Given the description of an element on the screen output the (x, y) to click on. 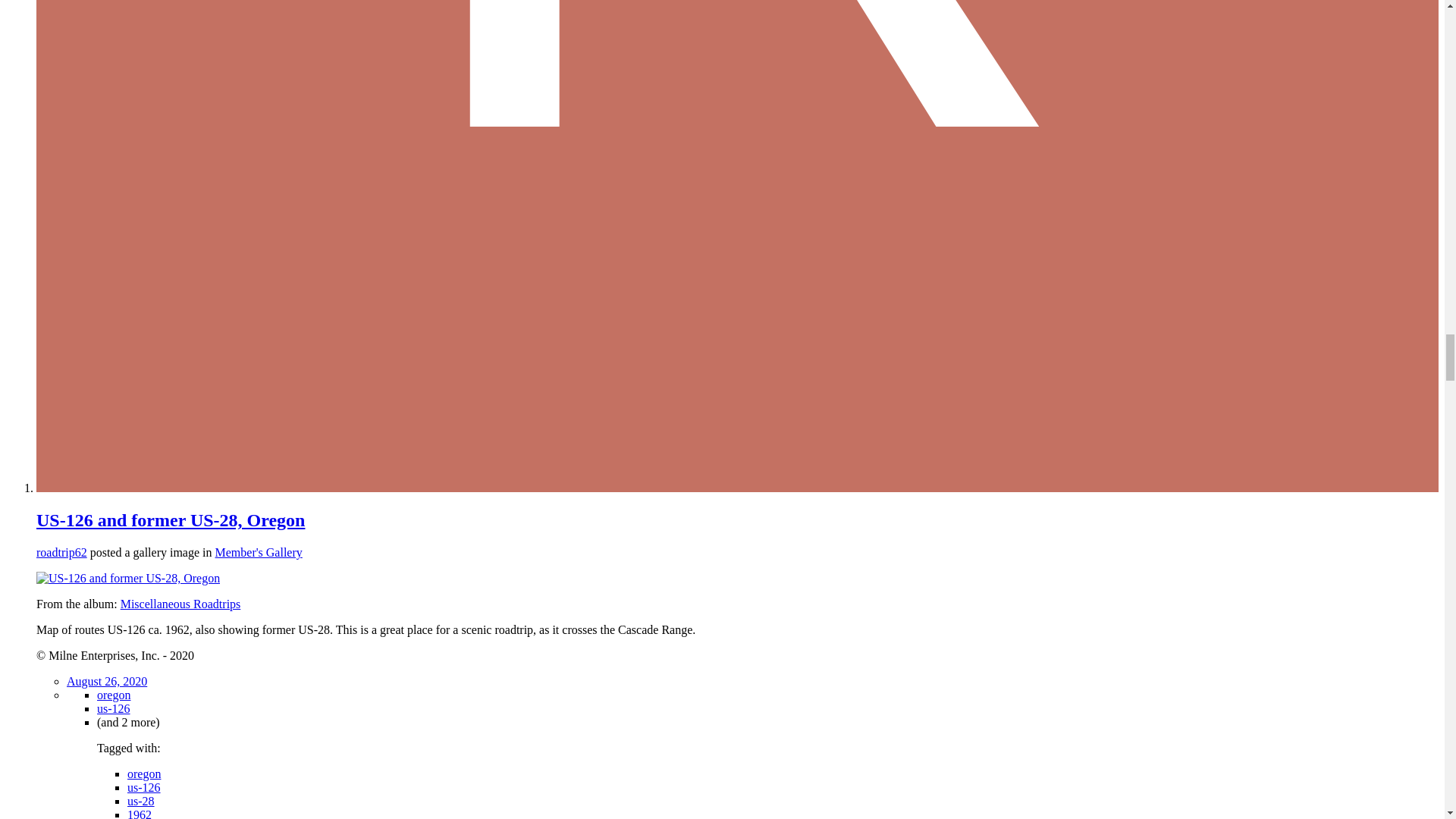
View the image US-126 and former US-28, Oregon (127, 577)
Find other content tagged with 'us-126' (144, 787)
Find other content tagged with 'oregon' (144, 773)
Find other content tagged with '1962' (139, 813)
Find other content tagged with 'oregon' (114, 694)
Go to roadtrip62's profile (61, 552)
Find other content tagged with 'us-28' (141, 800)
Find other content tagged with 'us-126' (114, 707)
